Given the description of an element on the screen output the (x, y) to click on. 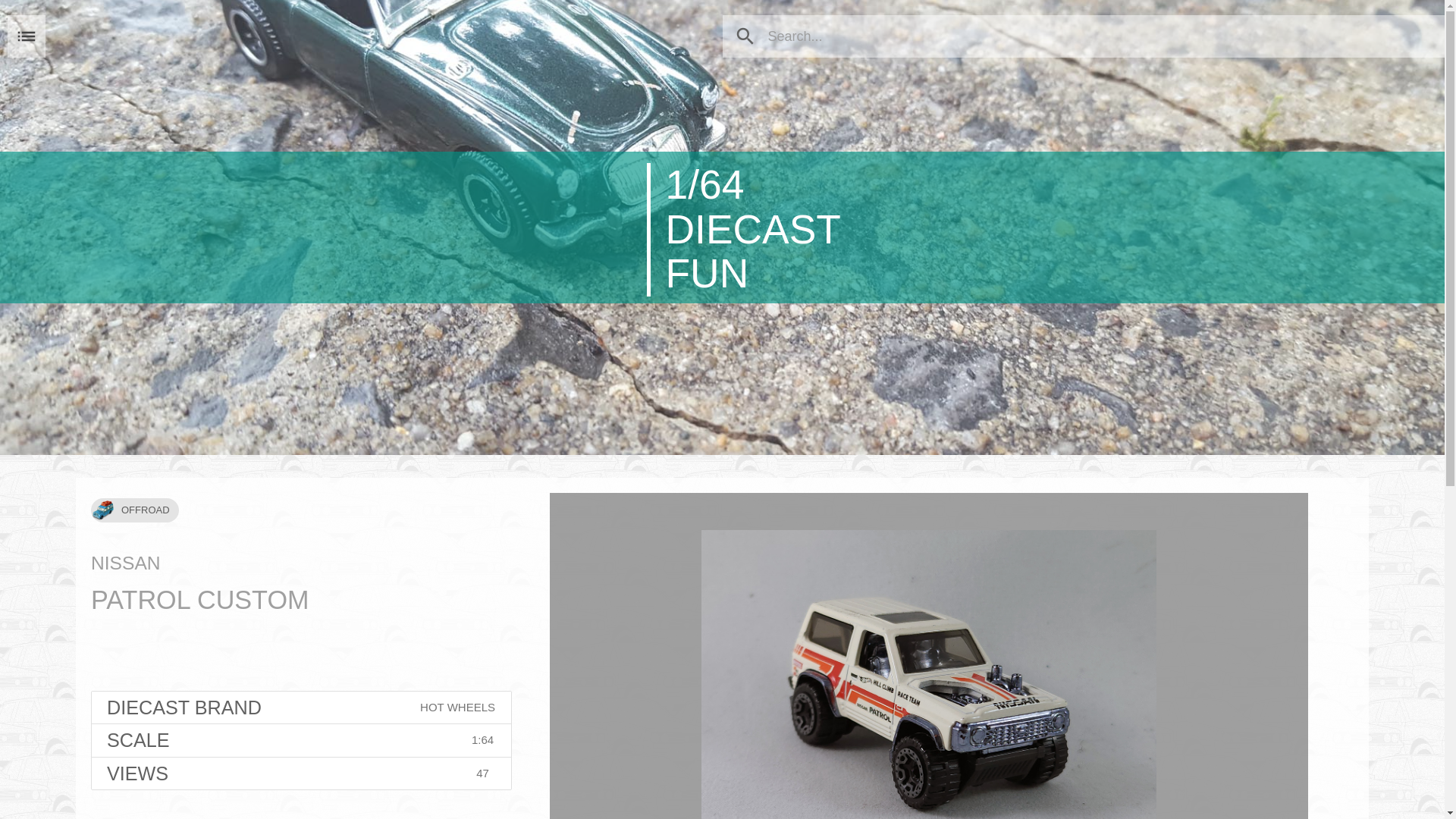
NISSAN Element type: text (125, 562)
OFFROAD Element type: text (134, 506)
HOT WHEELS
DIECAST BRAND Element type: text (301, 707)
